Given the description of an element on the screen output the (x, y) to click on. 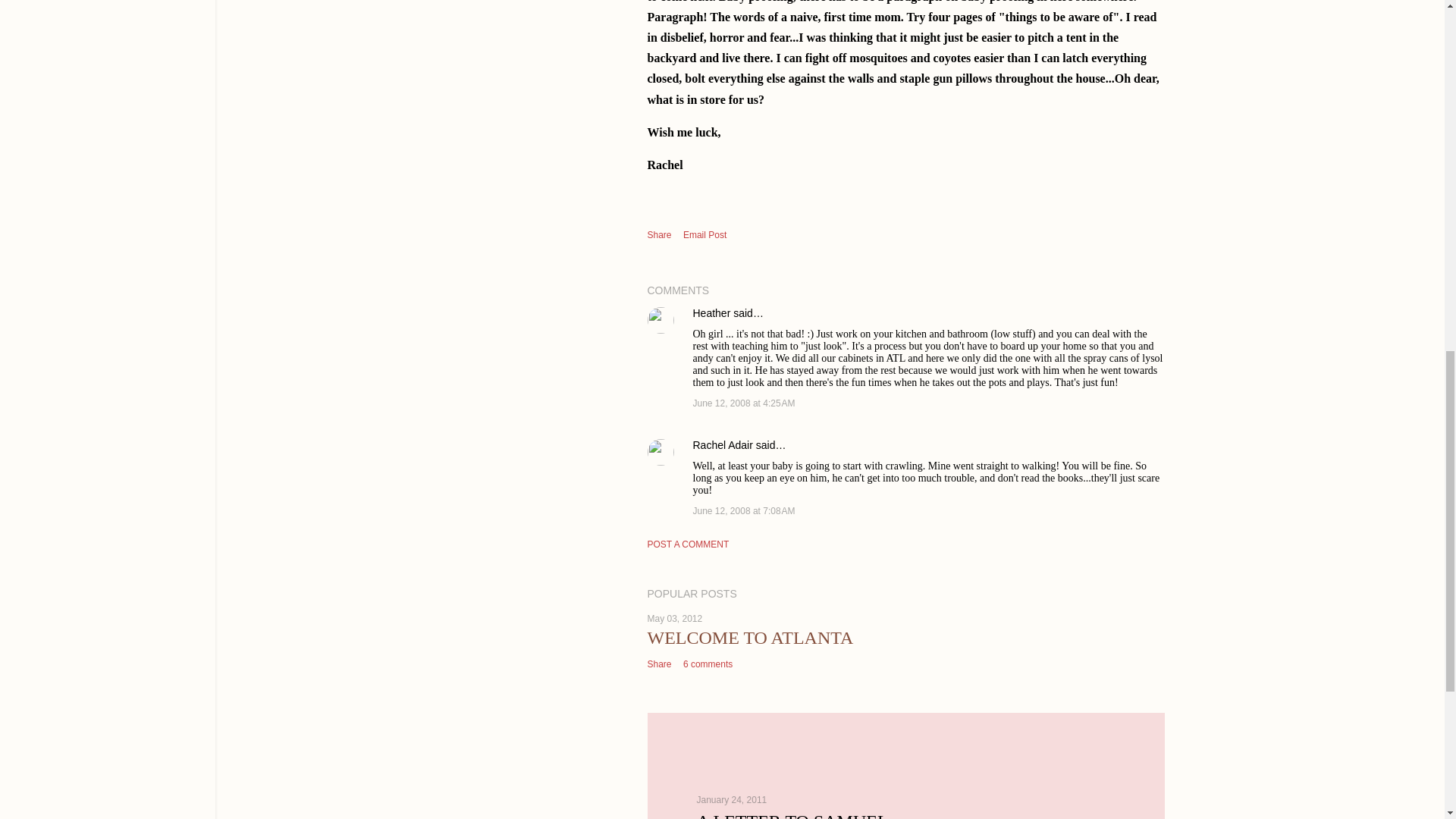
6 comments (707, 664)
comment permalink (743, 403)
Email Post (704, 234)
May 03, 2012 (675, 618)
POST A COMMENT (688, 543)
Share (659, 664)
Rachel Adair (722, 444)
January 24, 2011 (731, 799)
